Given the description of an element on the screen output the (x, y) to click on. 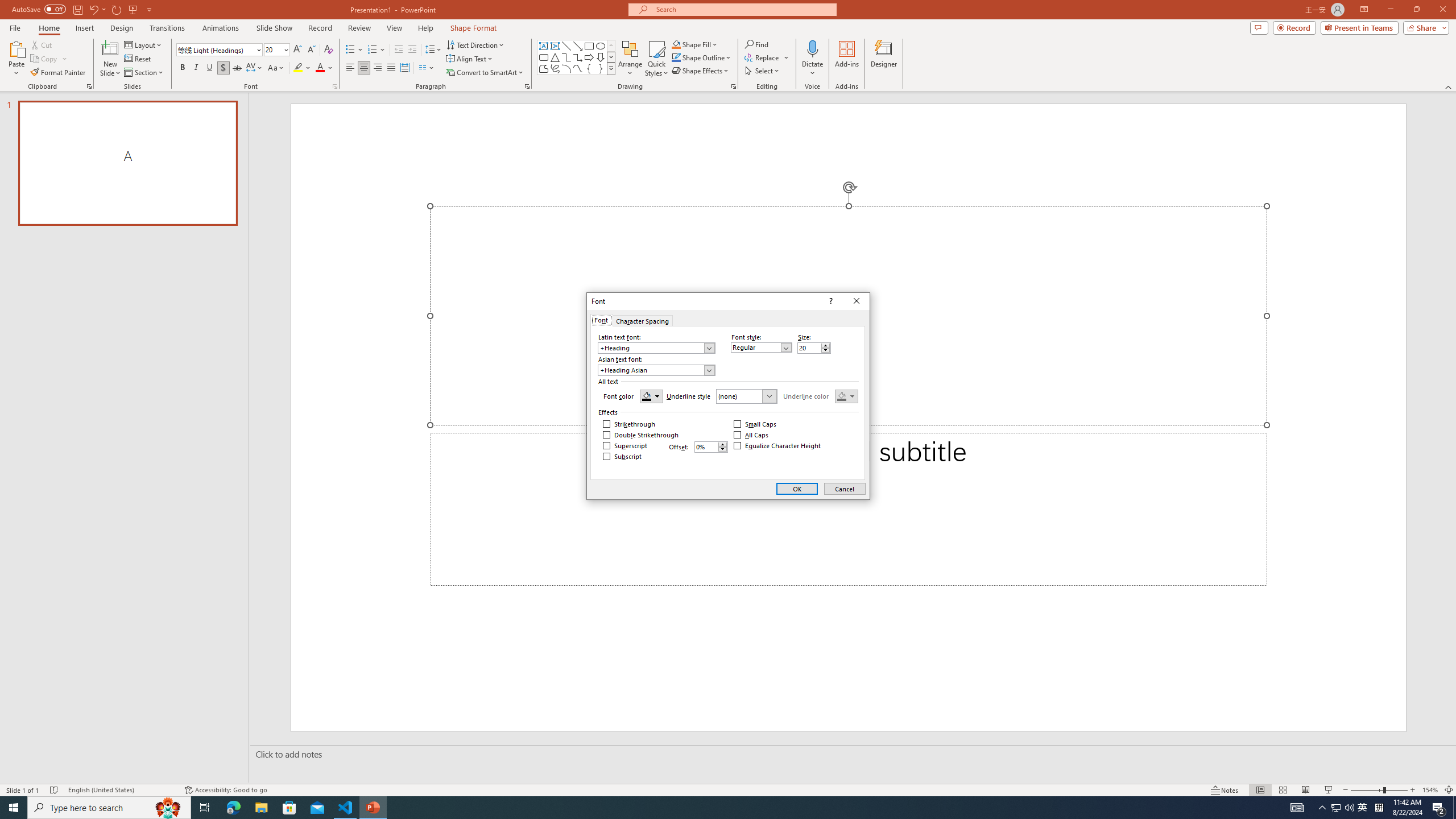
Subscript (622, 456)
